Given the description of an element on the screen output the (x, y) to click on. 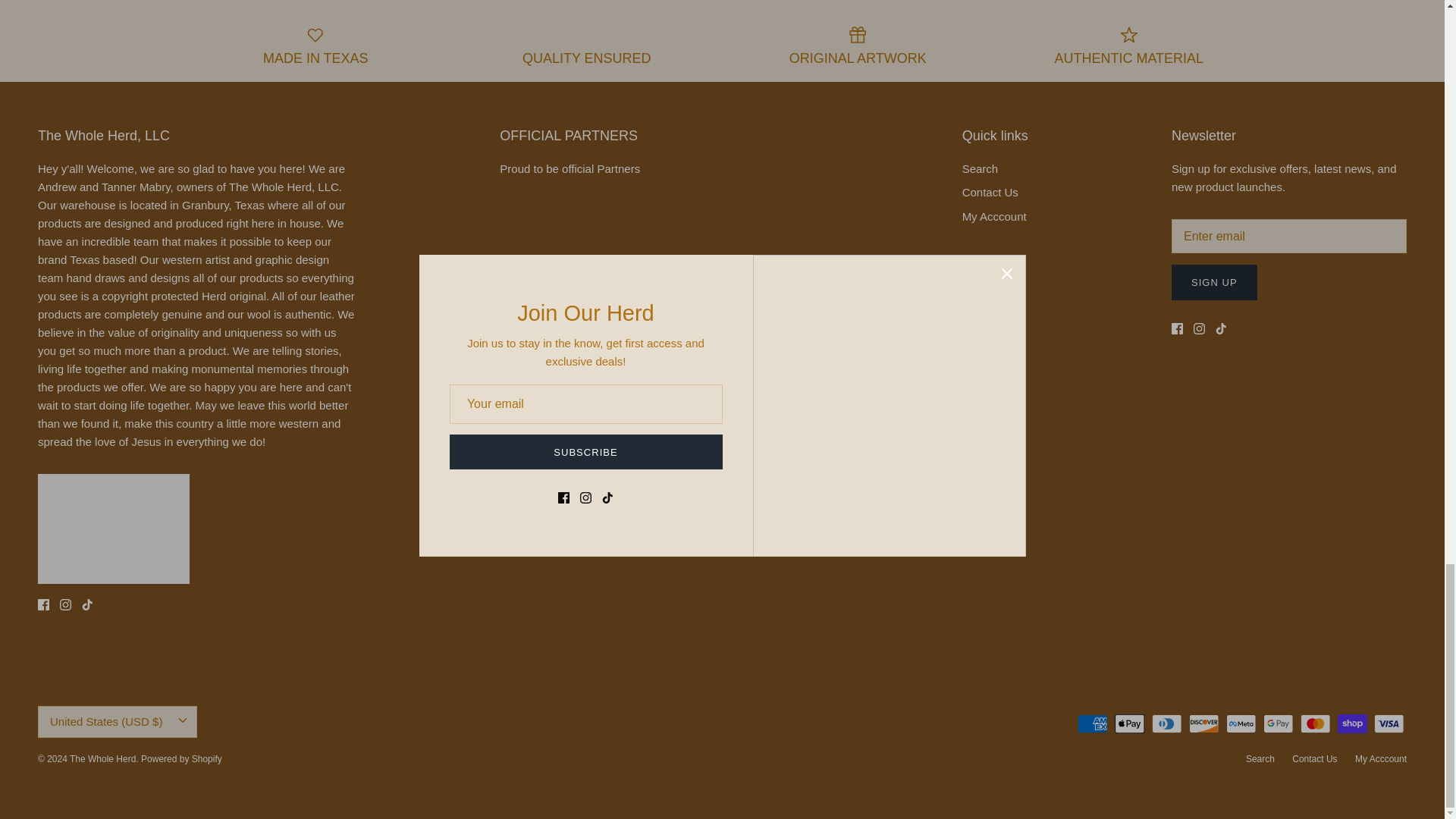
Facebook (43, 604)
Instagram (65, 604)
Instagram (1199, 328)
Facebook (1177, 328)
Apple Pay (1129, 723)
American Express (1092, 723)
